Given the description of an element on the screen output the (x, y) to click on. 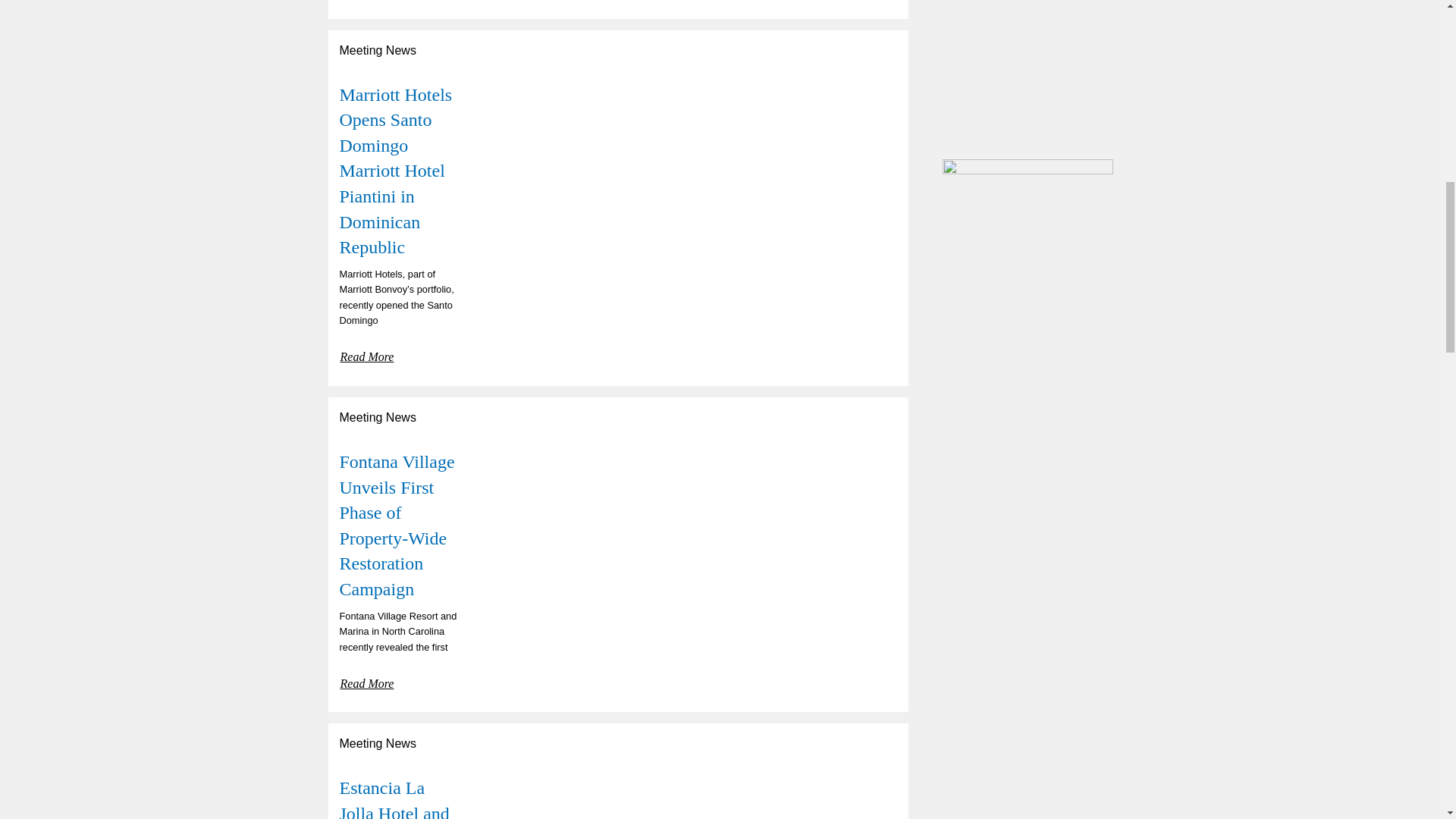
Read More (366, 3)
Read More (366, 680)
Read More (366, 354)
